Given the description of an element on the screen output the (x, y) to click on. 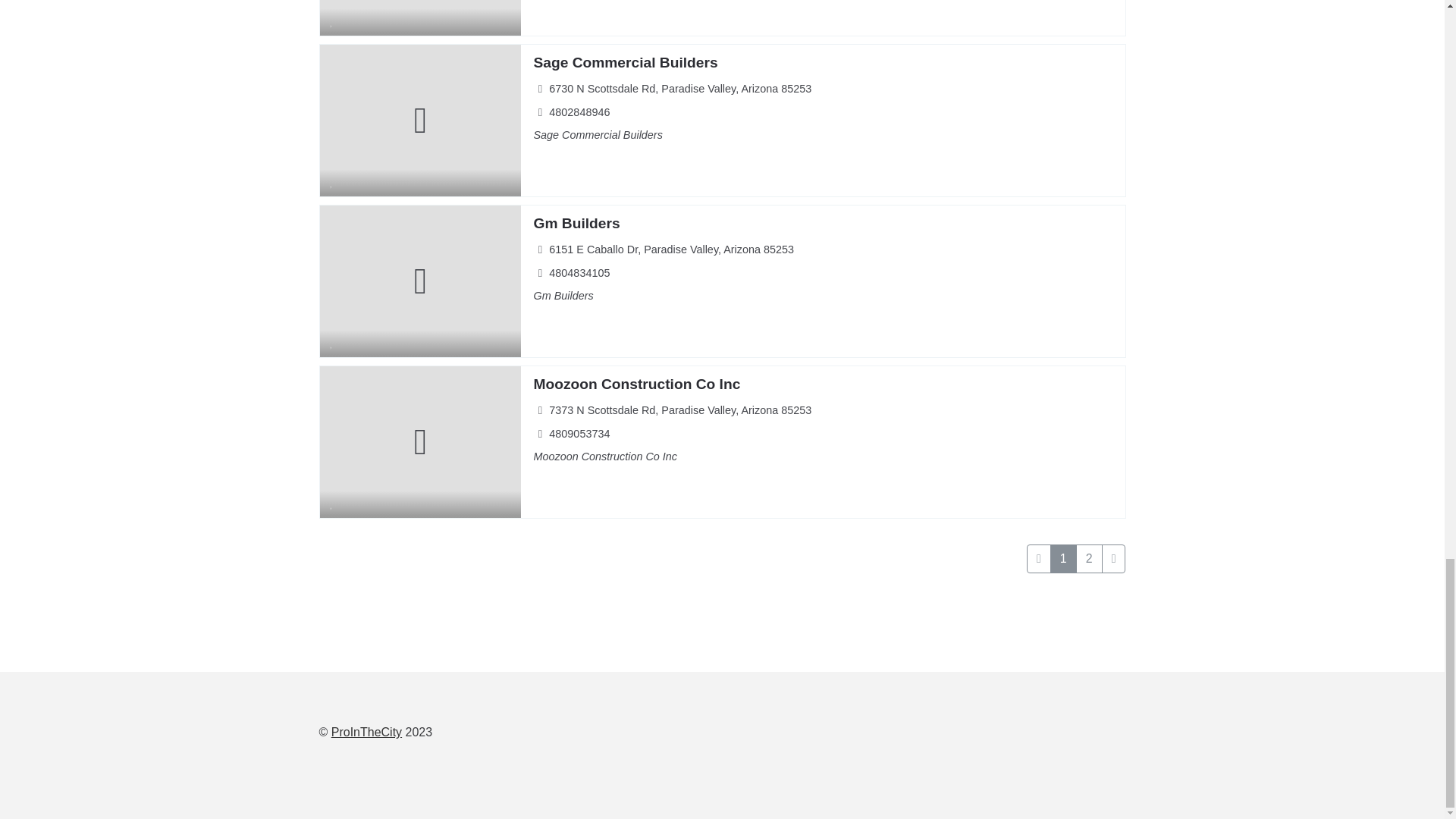
Bookmark (331, 21)
Sage Commercial Builders (624, 62)
Bookmark (331, 181)
